Given the description of an element on the screen output the (x, y) to click on. 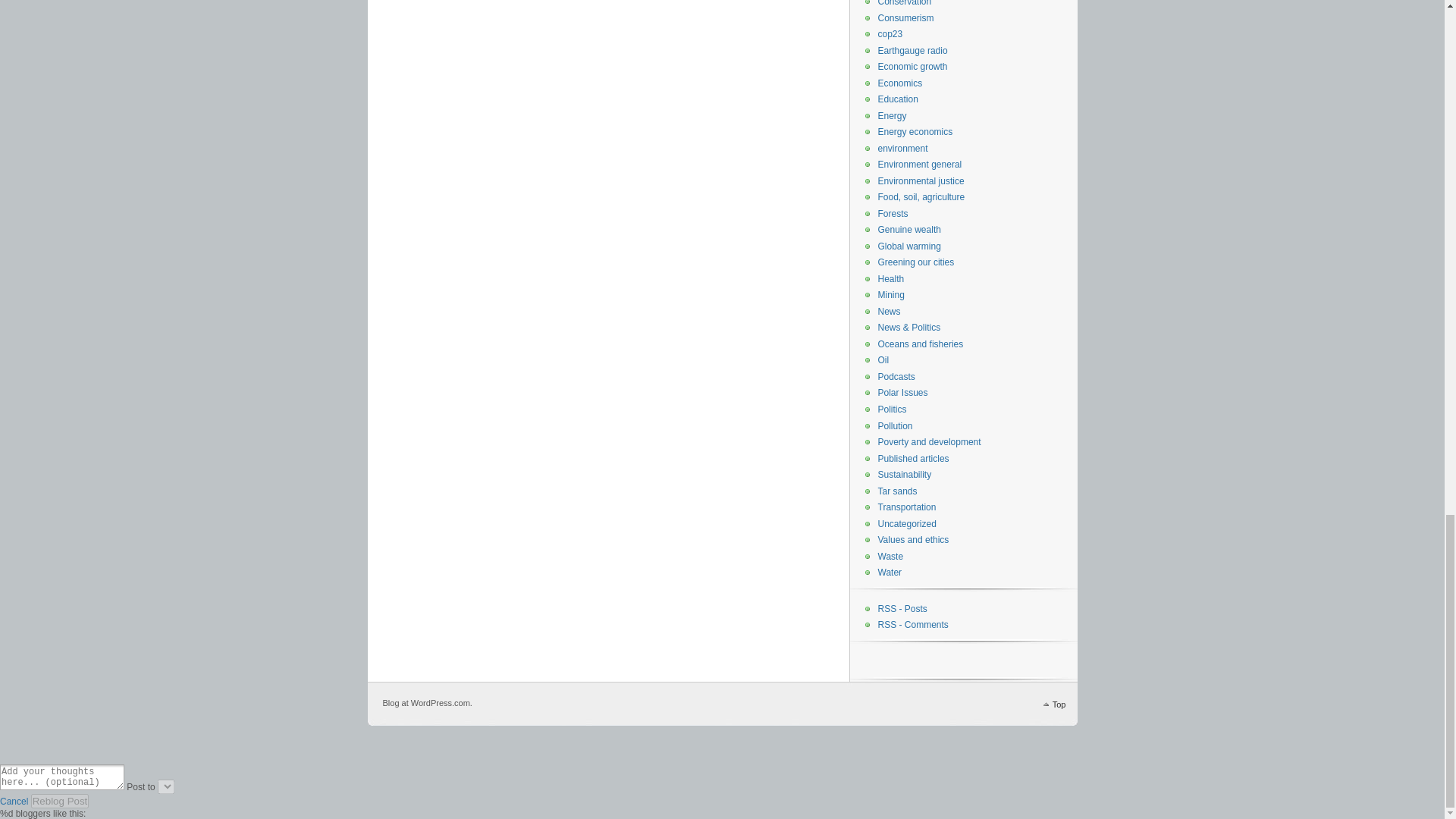
Subscribe to Posts (902, 608)
Subscribe to Comments (913, 624)
Reblog Post (59, 800)
Follow Button (963, 658)
